Given the description of an element on the screen output the (x, y) to click on. 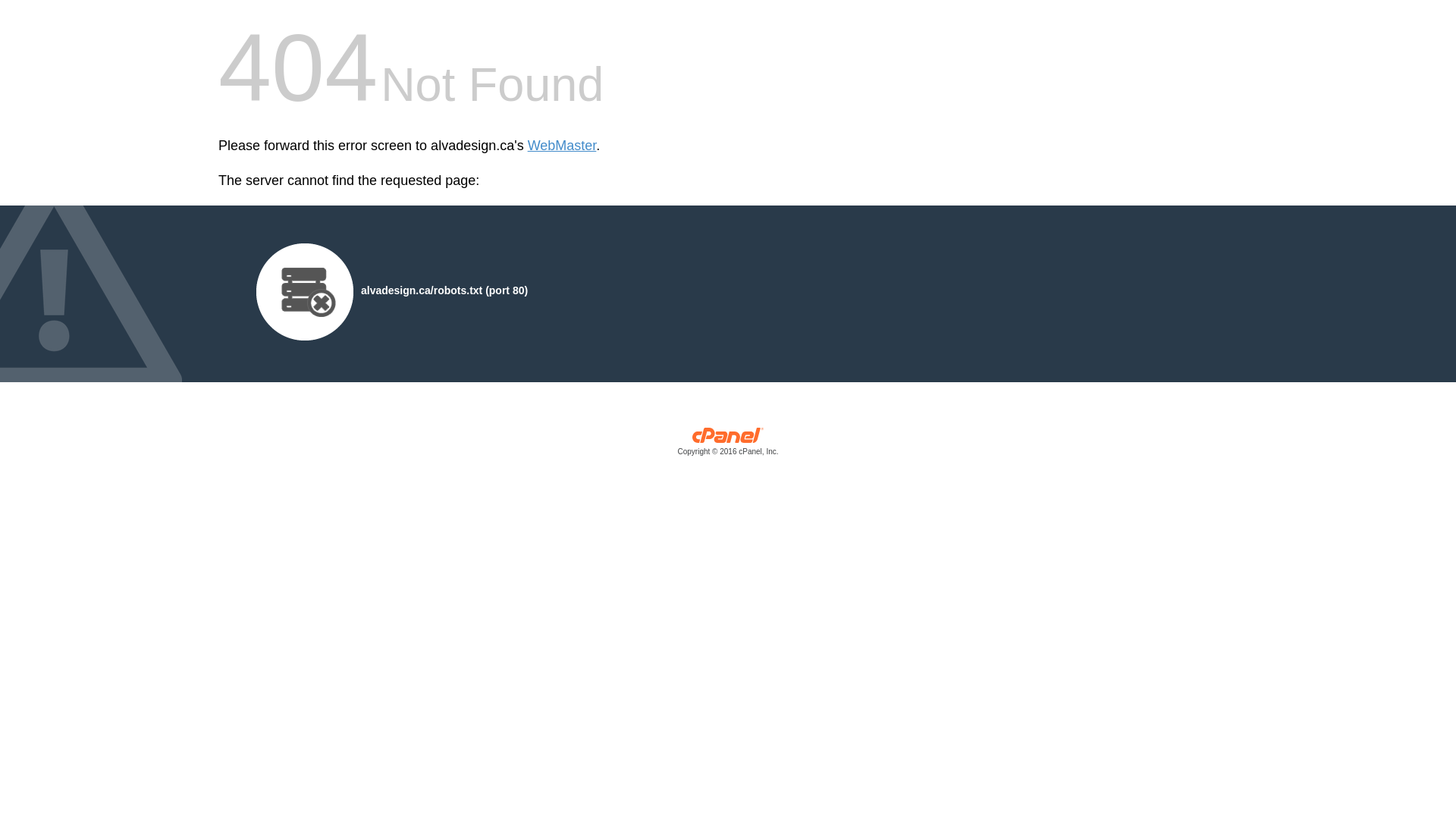
WebMaster Element type: text (561, 145)
